Given the description of an element on the screen output the (x, y) to click on. 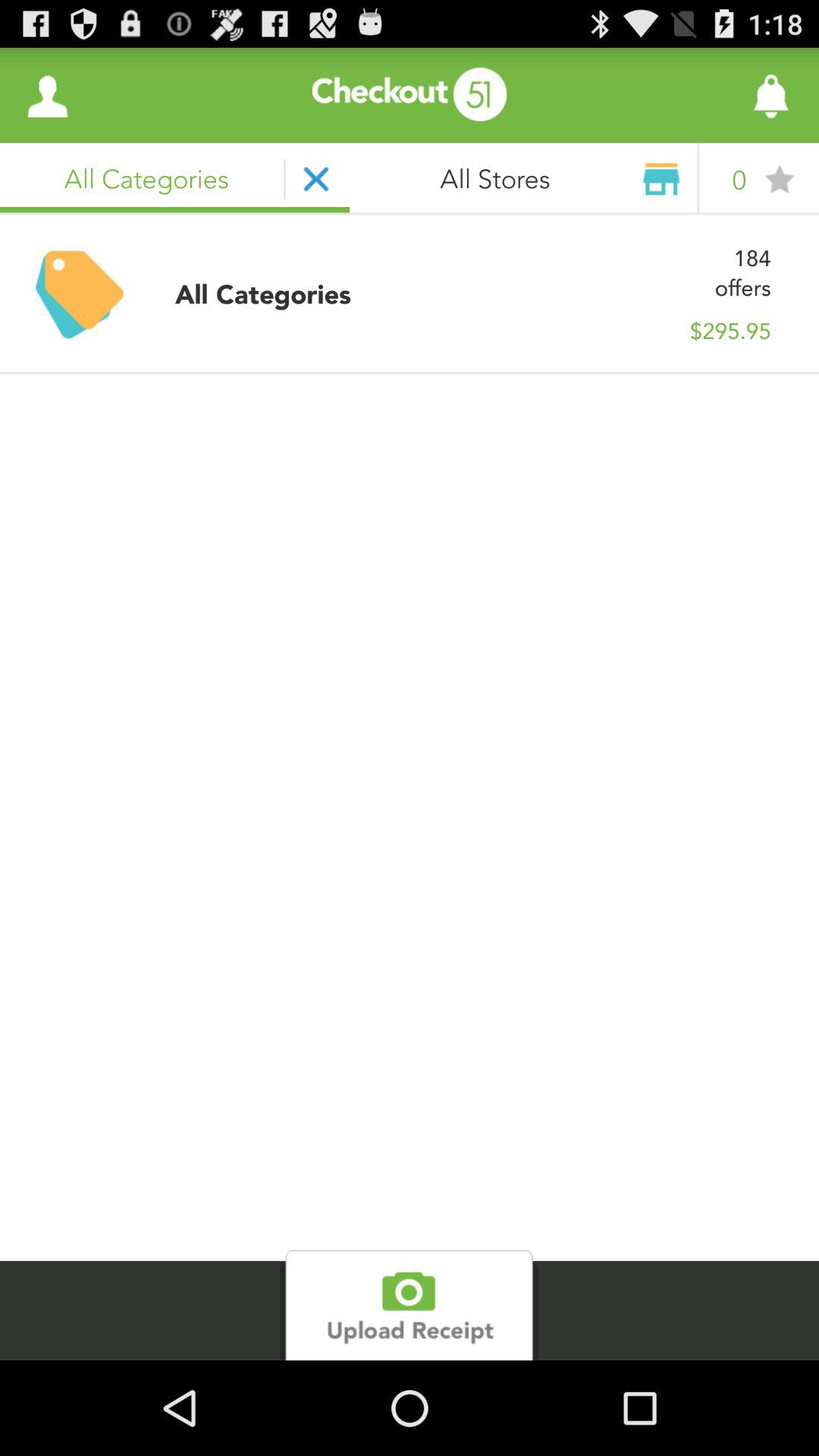
like (729, 95)
